Given the description of an element on the screen output the (x, y) to click on. 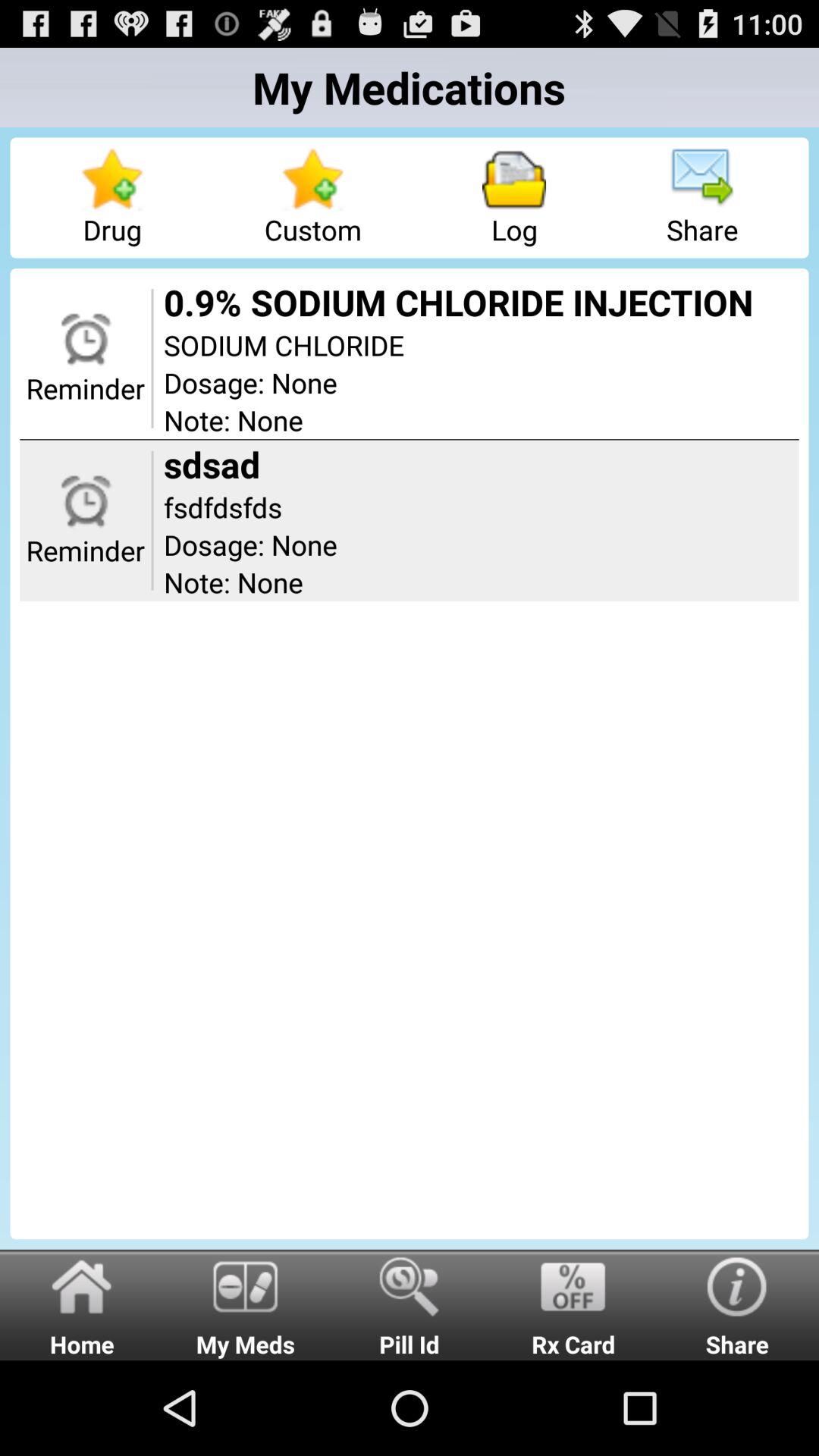
click pill id item (409, 1304)
